Given the description of an element on the screen output the (x, y) to click on. 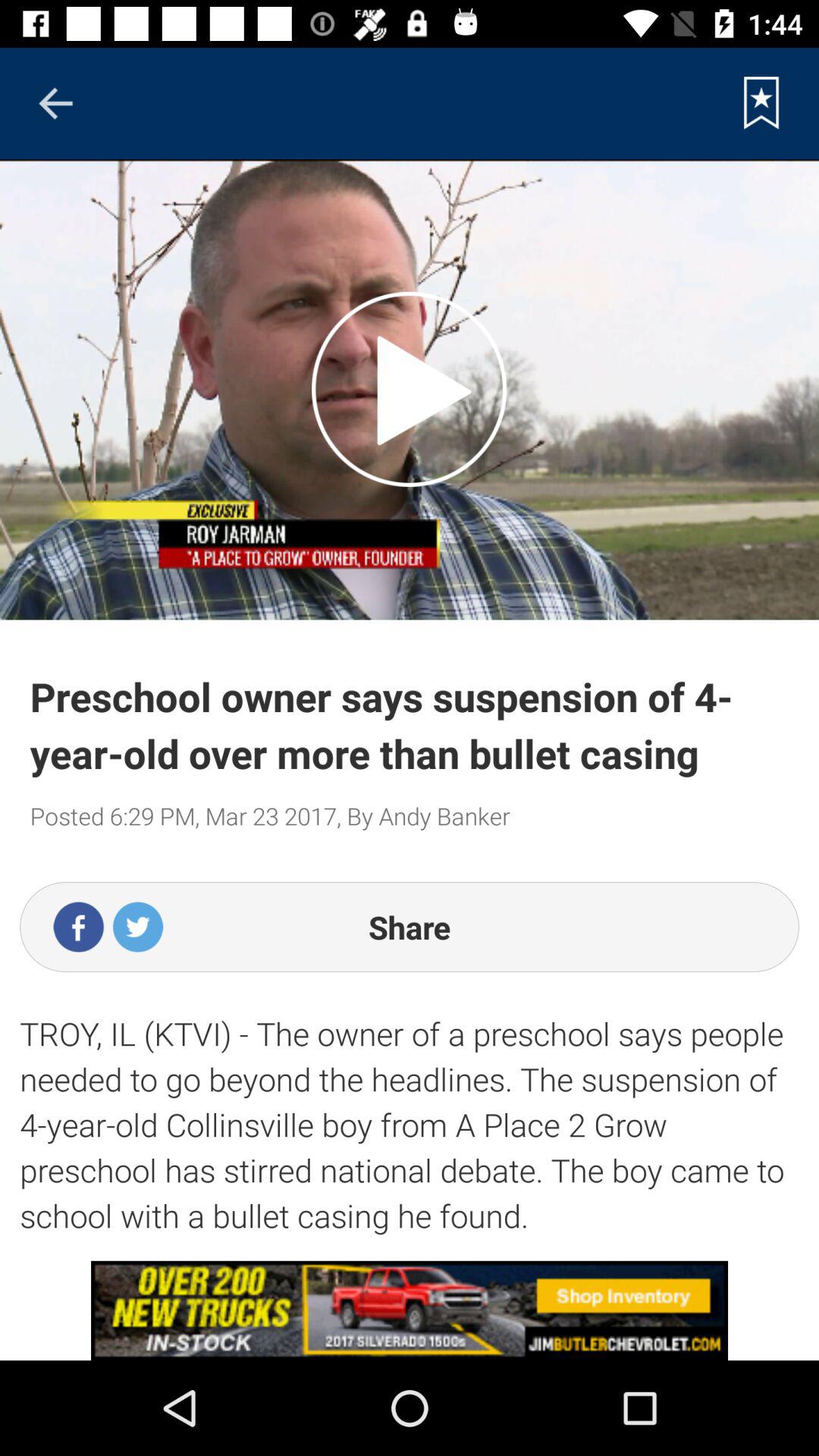
play (408, 388)
